Given the description of an element on the screen output the (x, y) to click on. 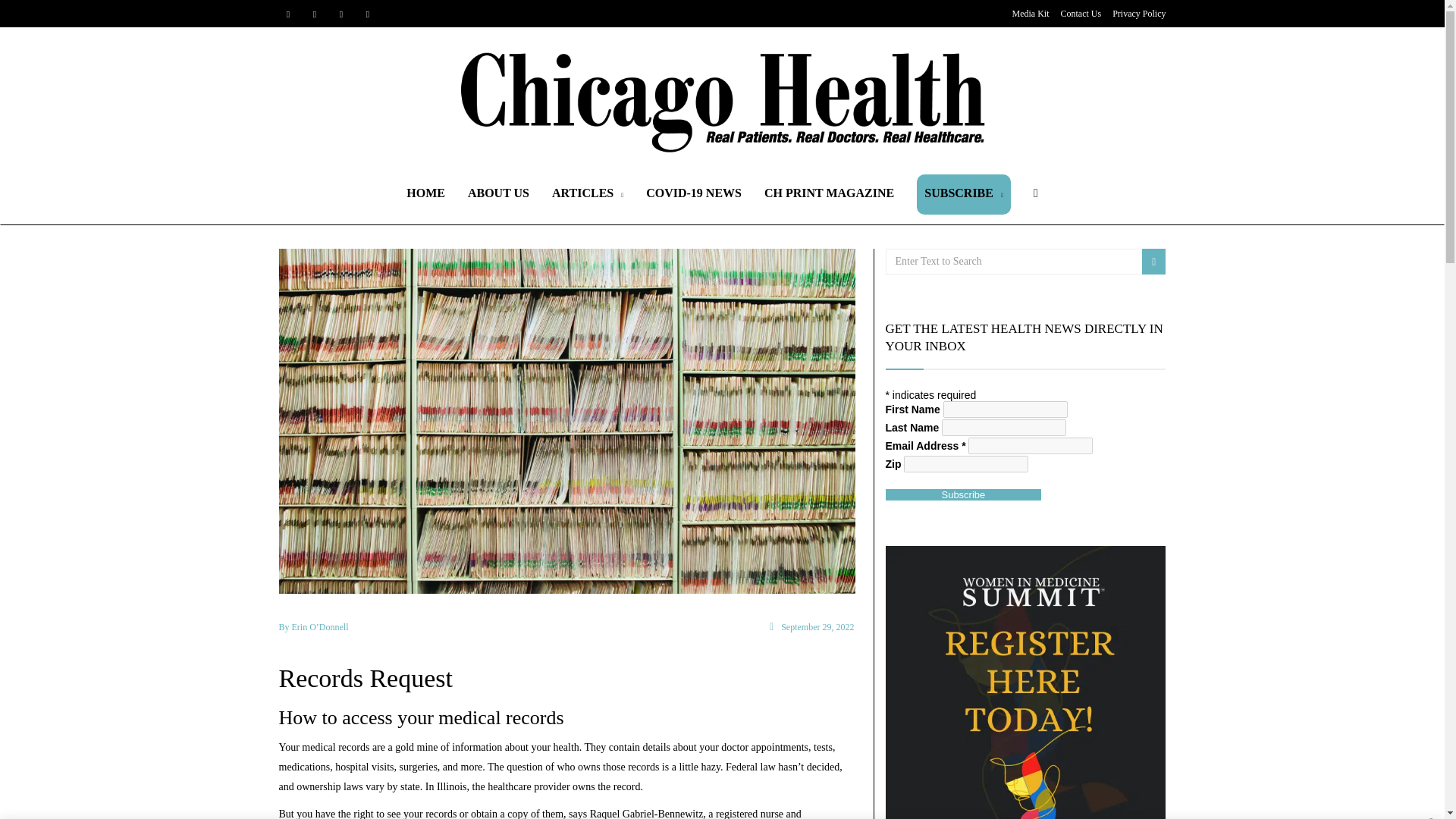
Login (727, 426)
Subscribe (963, 494)
